Given the description of an element on the screen output the (x, y) to click on. 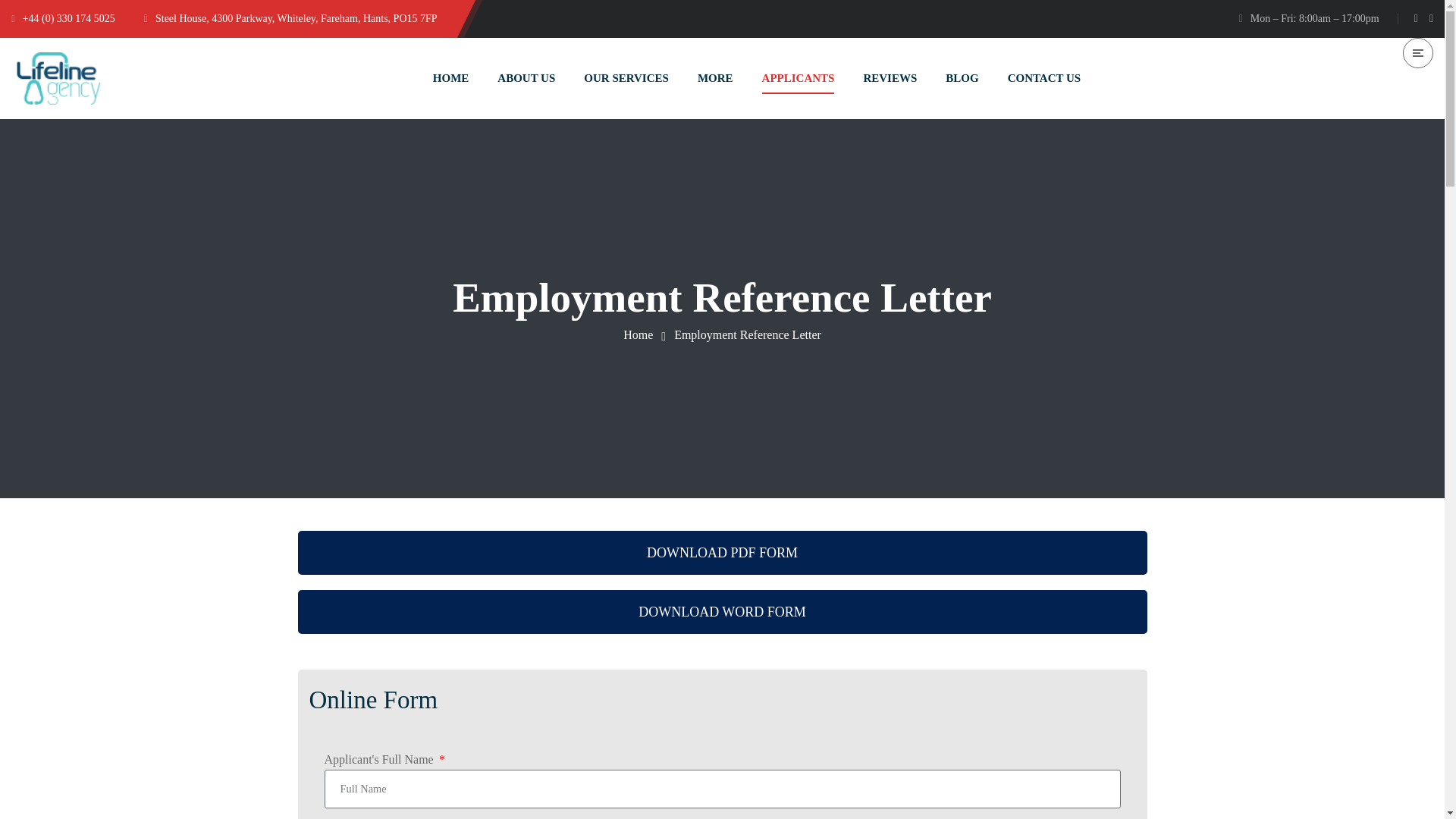
Lifeline Agency (58, 78)
APPLICANTS (797, 77)
Lifeline Agency (637, 334)
OUR SERVICES (625, 77)
